Given the description of an element on the screen output the (x, y) to click on. 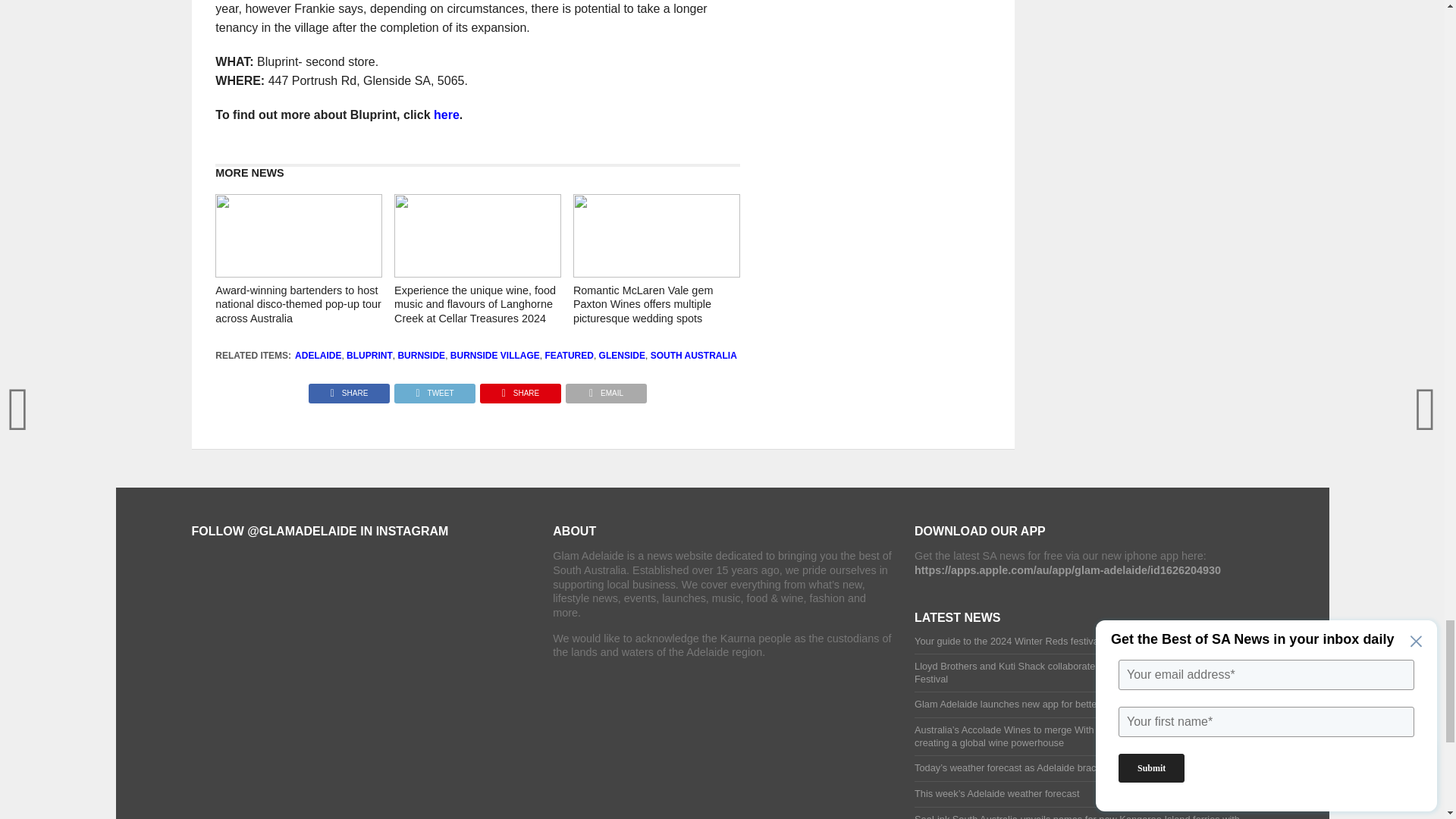
Share on Facebook (349, 389)
Tweet This Post (434, 389)
Pin This Post (520, 389)
